Given the description of an element on the screen output the (x, y) to click on. 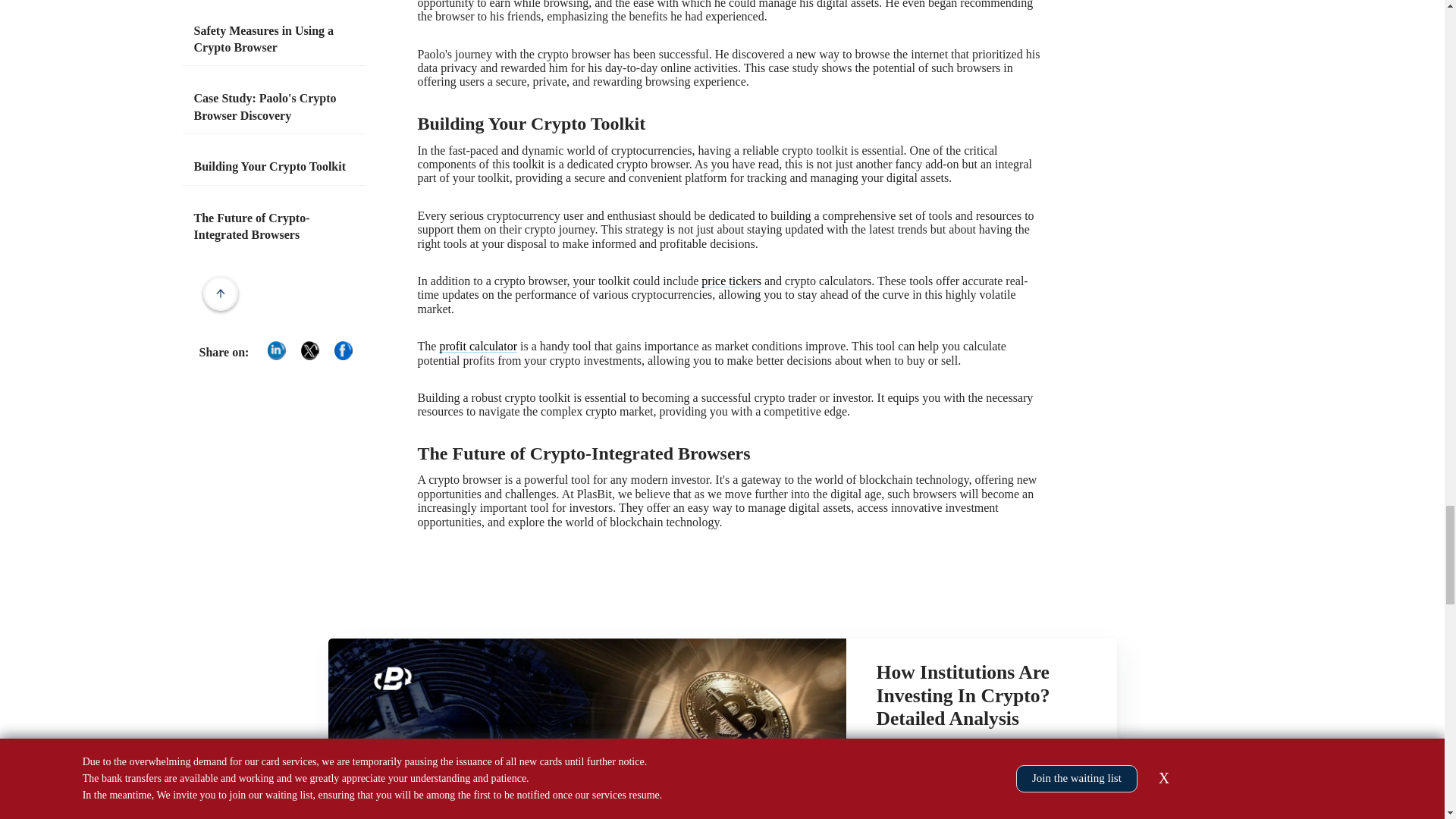
profit calculator (477, 345)
price tickers (731, 280)
